Given the description of an element on the screen output the (x, y) to click on. 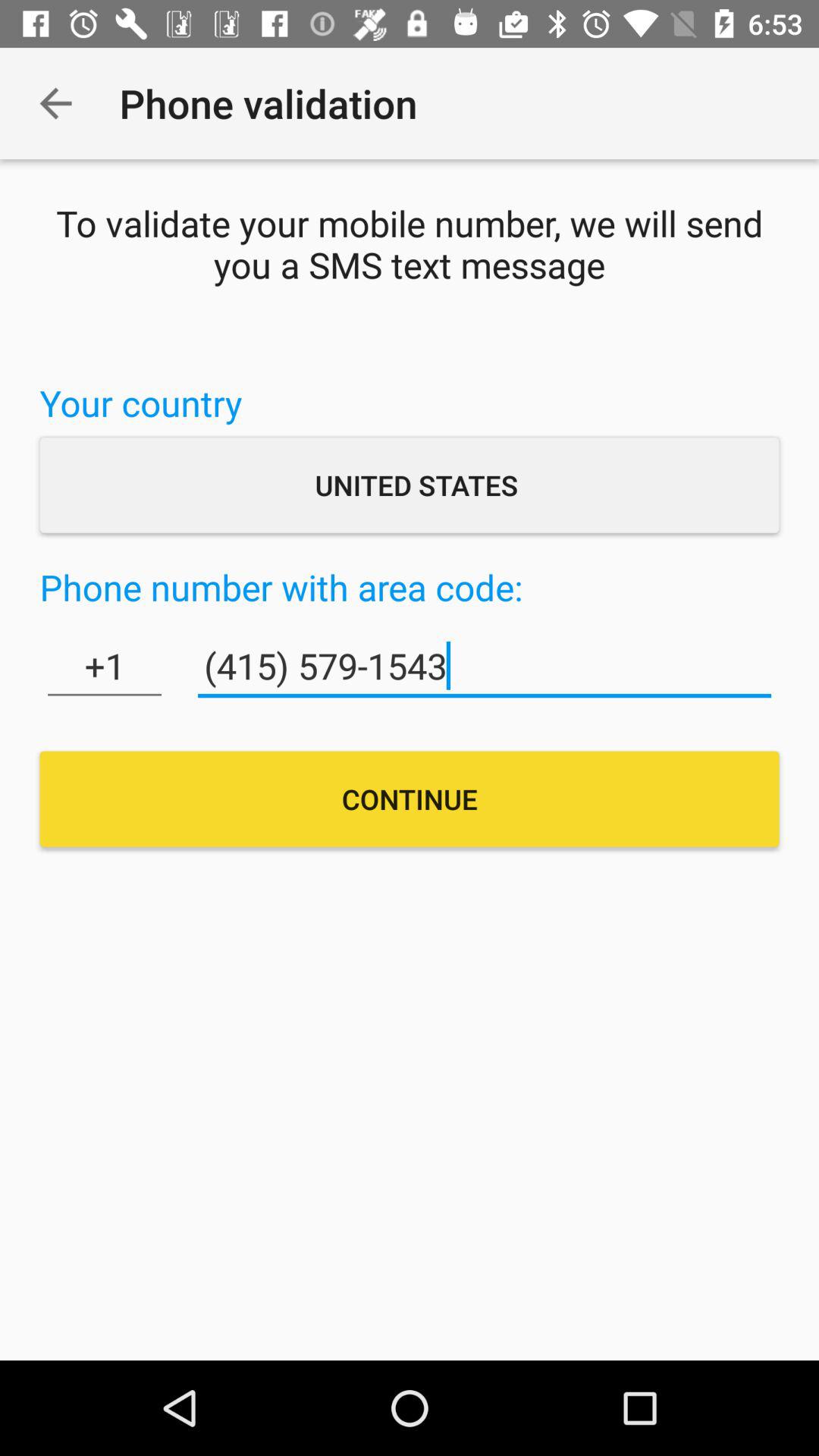
swipe to continue icon (409, 798)
